Given the description of an element on the screen output the (x, y) to click on. 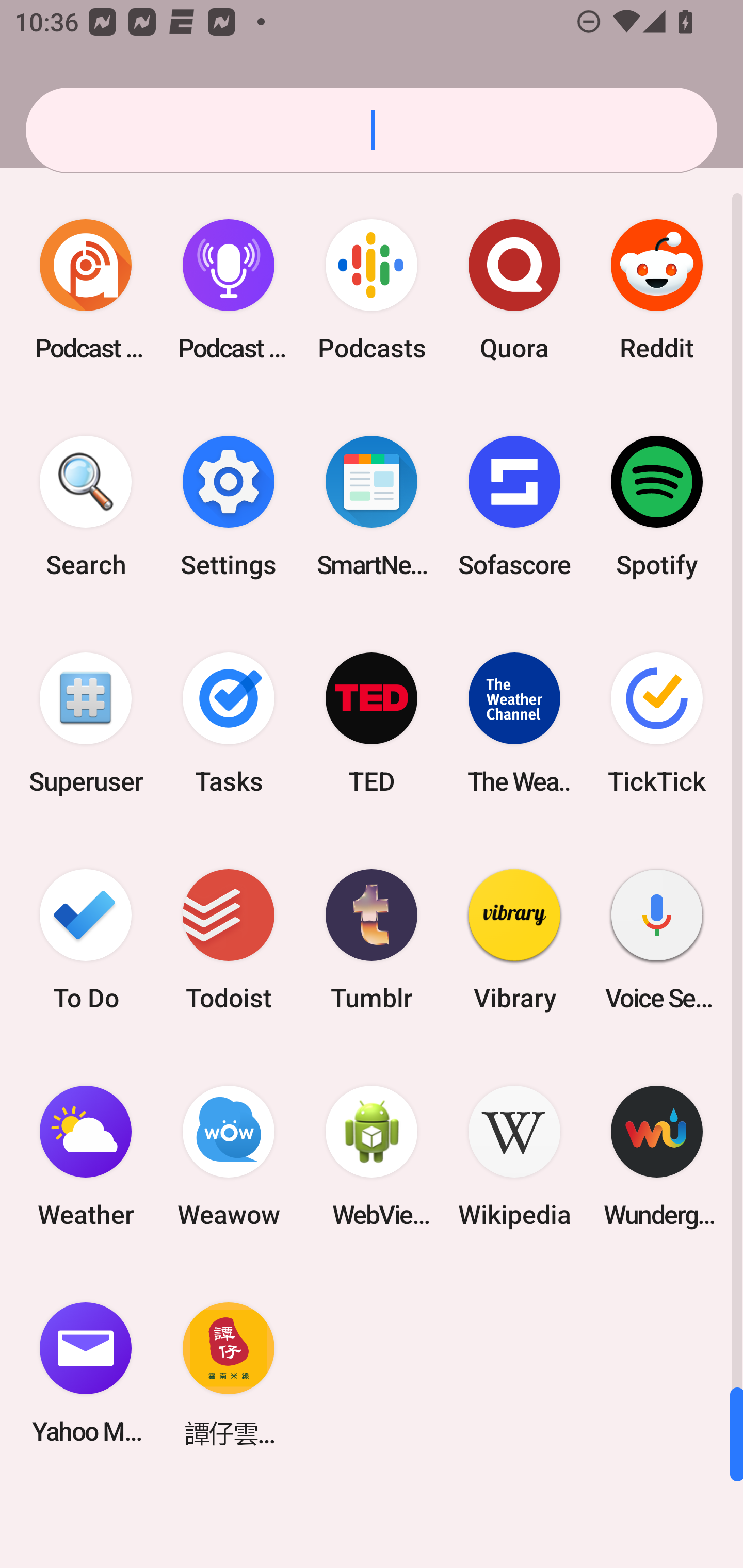
  Search apps (371, 130)
Podcast Addict (85, 289)
Podcast Player (228, 289)
Podcasts (371, 289)
Quora (514, 289)
Reddit (656, 289)
Search (85, 506)
Settings (228, 506)
SmartNews (371, 506)
Sofascore (514, 506)
Spotify (656, 506)
Superuser (85, 722)
Tasks (228, 722)
TED (371, 722)
The Weather Channel (514, 722)
TickTick (656, 722)
To Do (85, 939)
Todoist (228, 939)
Tumblr (371, 939)
Vibrary (514, 939)
Voice Search (656, 939)
Weather (85, 1156)
Weawow (228, 1156)
WebView Browser Tester (371, 1156)
Wikipedia (514, 1156)
Wunderground (656, 1156)
Yahoo Mail (85, 1373)
譚仔雲南米線 (228, 1373)
